Given the description of an element on the screen output the (x, y) to click on. 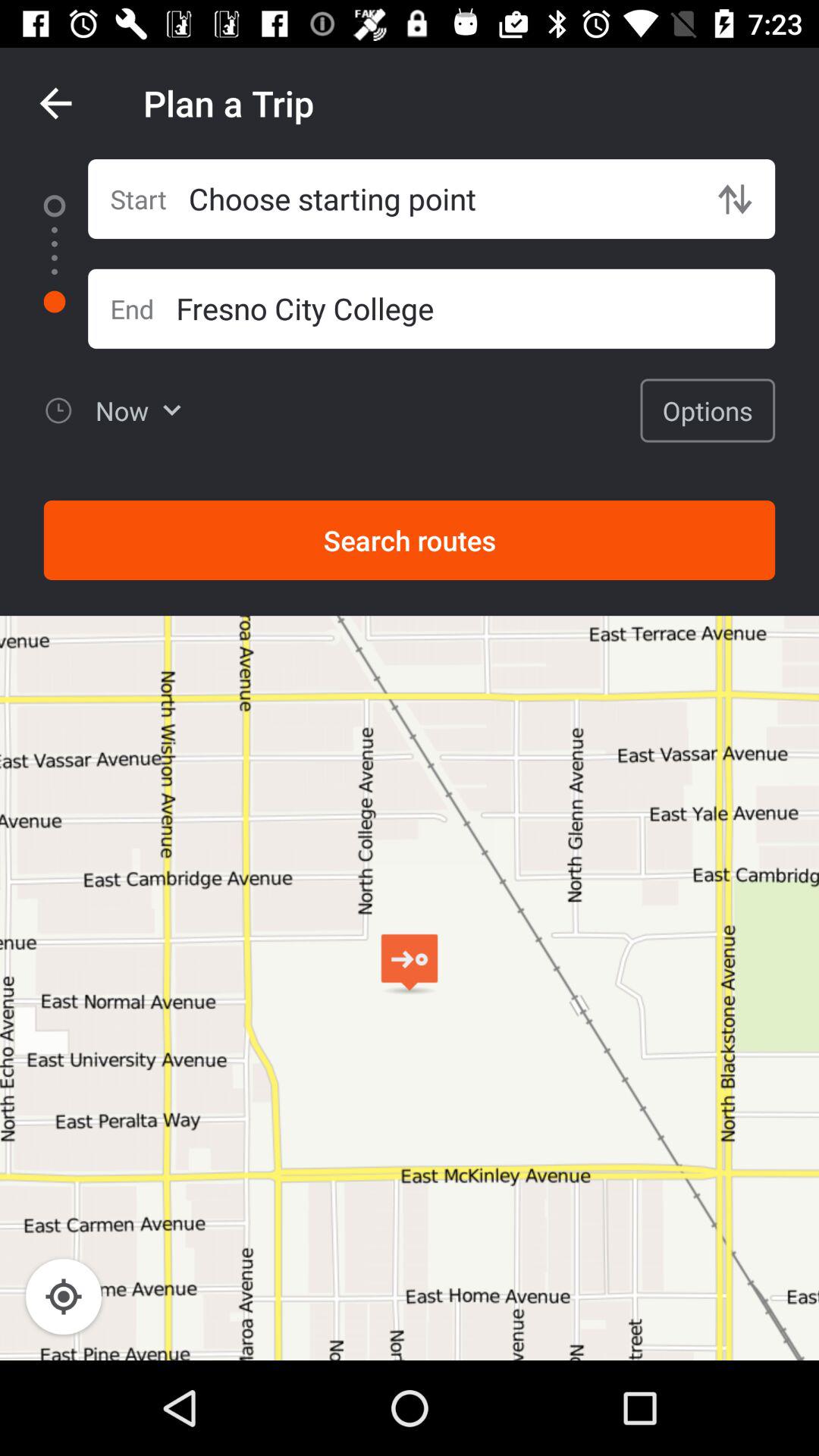
to locate current gps location (63, 1296)
